Given the description of an element on the screen output the (x, y) to click on. 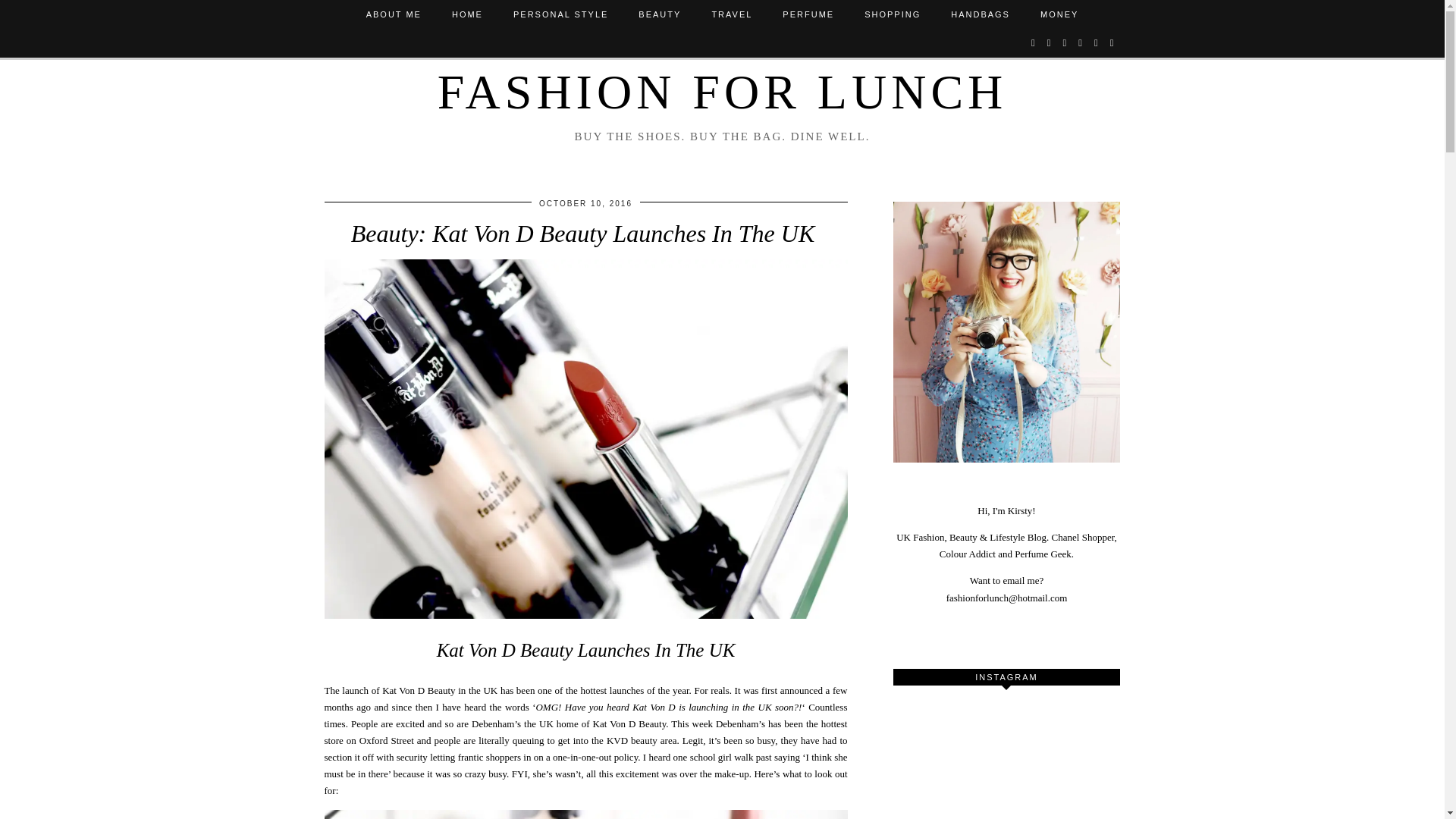
SHOPPING (892, 14)
MONEY (1059, 14)
TRAVEL (731, 14)
PERFUME (807, 14)
PERSONAL STYLE (560, 14)
ABOUT ME (393, 14)
HOME (466, 14)
FASHION FOR LUNCH (722, 91)
BEAUTY (659, 14)
HANDBAGS (980, 14)
